Given the description of an element on the screen output the (x, y) to click on. 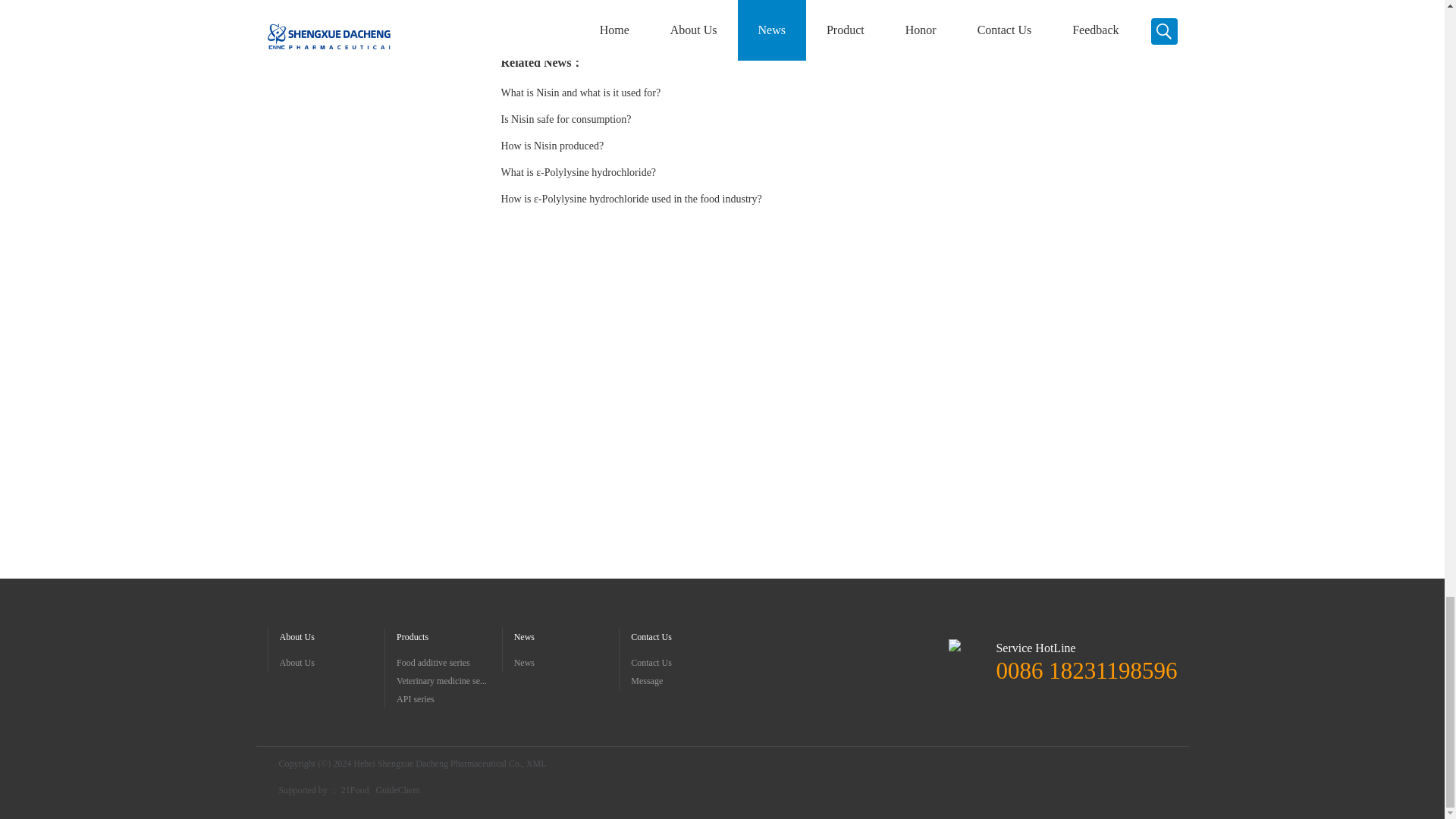
Contact Us (683, 662)
How is Nisin produced? (552, 145)
What is Nisin and what is it used for? (580, 92)
News (566, 662)
Is Nisin safe for consumption? (565, 119)
About Us (331, 662)
Message (683, 680)
